Given the description of an element on the screen output the (x, y) to click on. 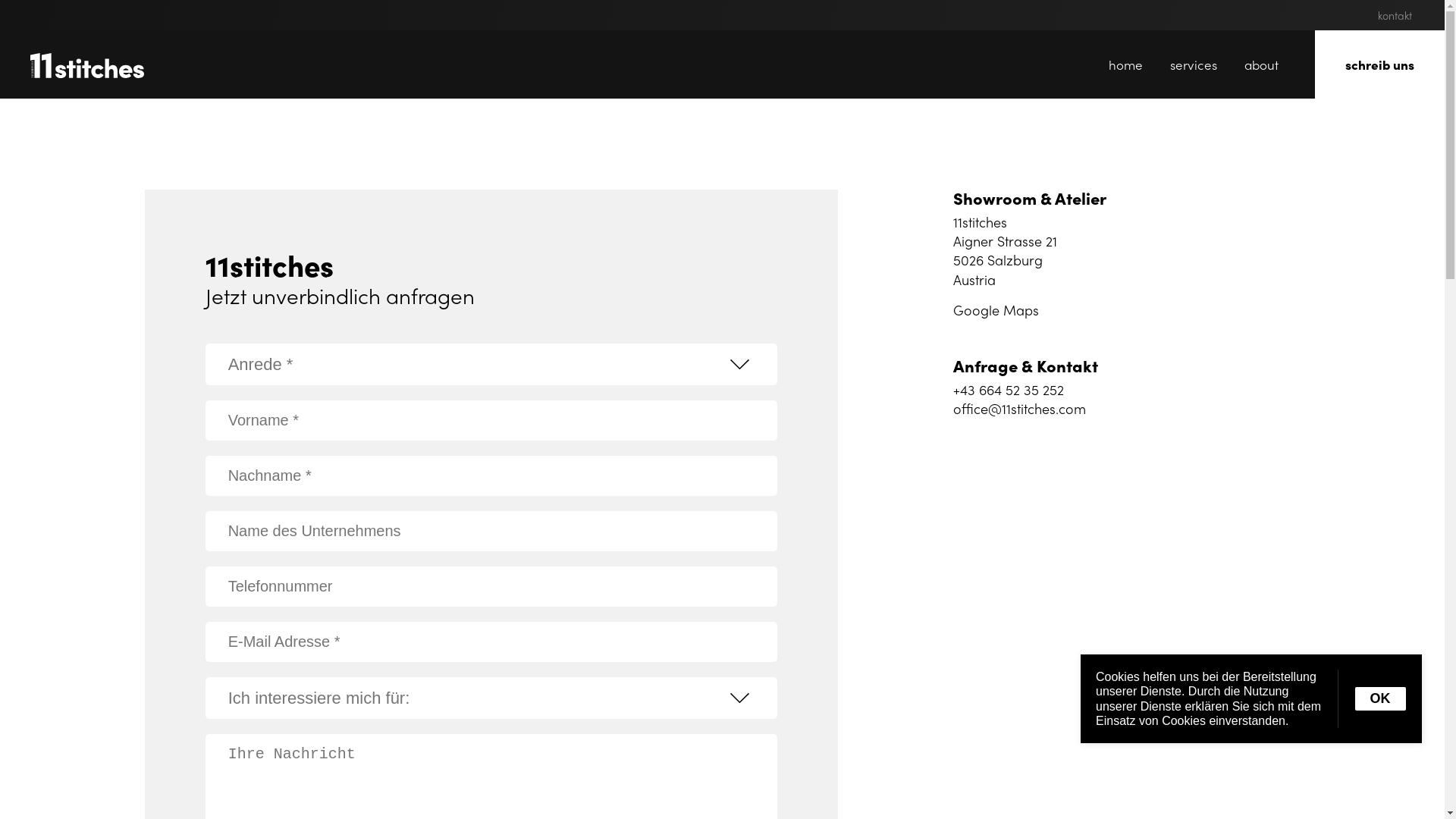
office@11stitches.com Element type: text (1019, 407)
schreib uns Element type: text (1379, 64)
home Element type: text (1125, 64)
kontakt Element type: text (1394, 15)
services Element type: text (1193, 64)
about Element type: text (1261, 64)
11stitches Element type: text (87, 65)
